Given the description of an element on the screen output the (x, y) to click on. 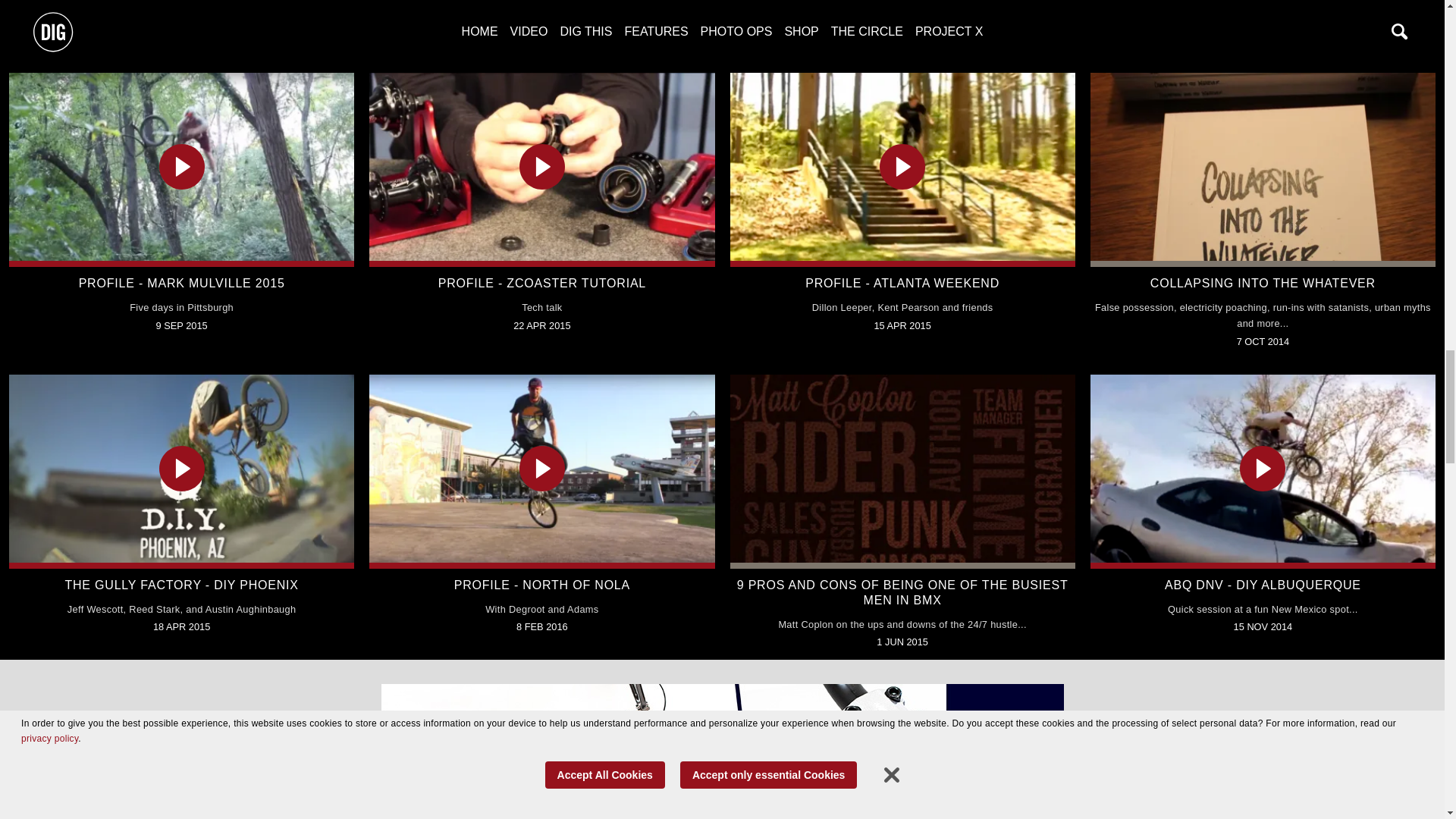
PROFILE - ZACH ROGERS 2014 (541, 2)
DILLON LEEPER - PROFILE ZCOASTER (181, 2)
